Given the description of an element on the screen output the (x, y) to click on. 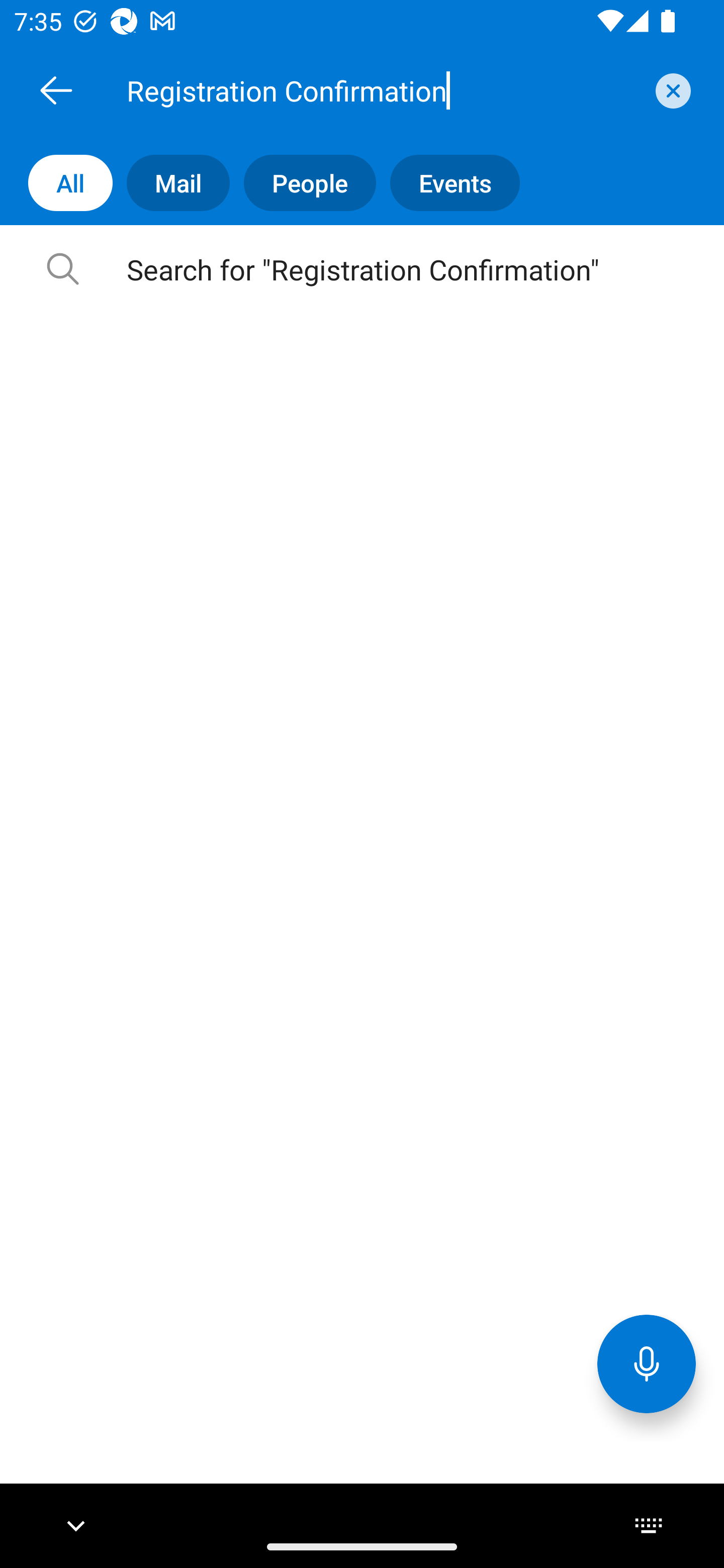
Back (55, 89)
Registration Confirmation (384, 89)
clear search (670, 90)
Mail (170, 183)
People (302, 183)
Events (447, 183)
Voice Assistant (646, 1362)
